Given the description of an element on the screen output the (x, y) to click on. 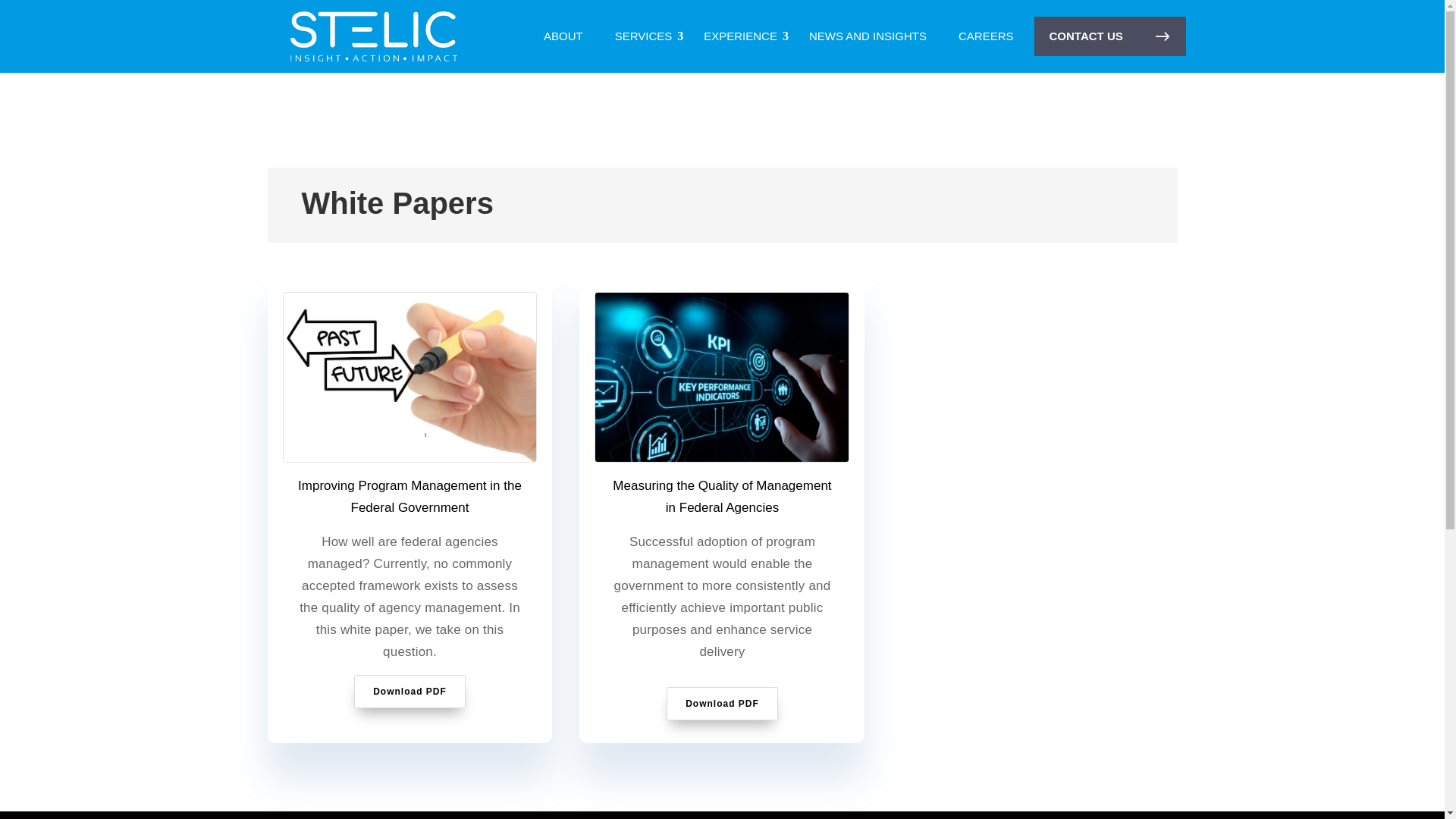
SERVICES (644, 36)
Download PDF (721, 703)
Measuring-the-Quality-of-Management-in-Federal-Agencies (721, 376)
NEWS AND INSIGHTS (867, 36)
Download PDF (409, 691)
Improving-Program-Management-in-the-Federal-Government (410, 376)
CAREERS (986, 36)
EXPERIENCE (741, 36)
CONTACT US (1109, 36)
ABOUT (563, 36)
